Given the description of an element on the screen output the (x, y) to click on. 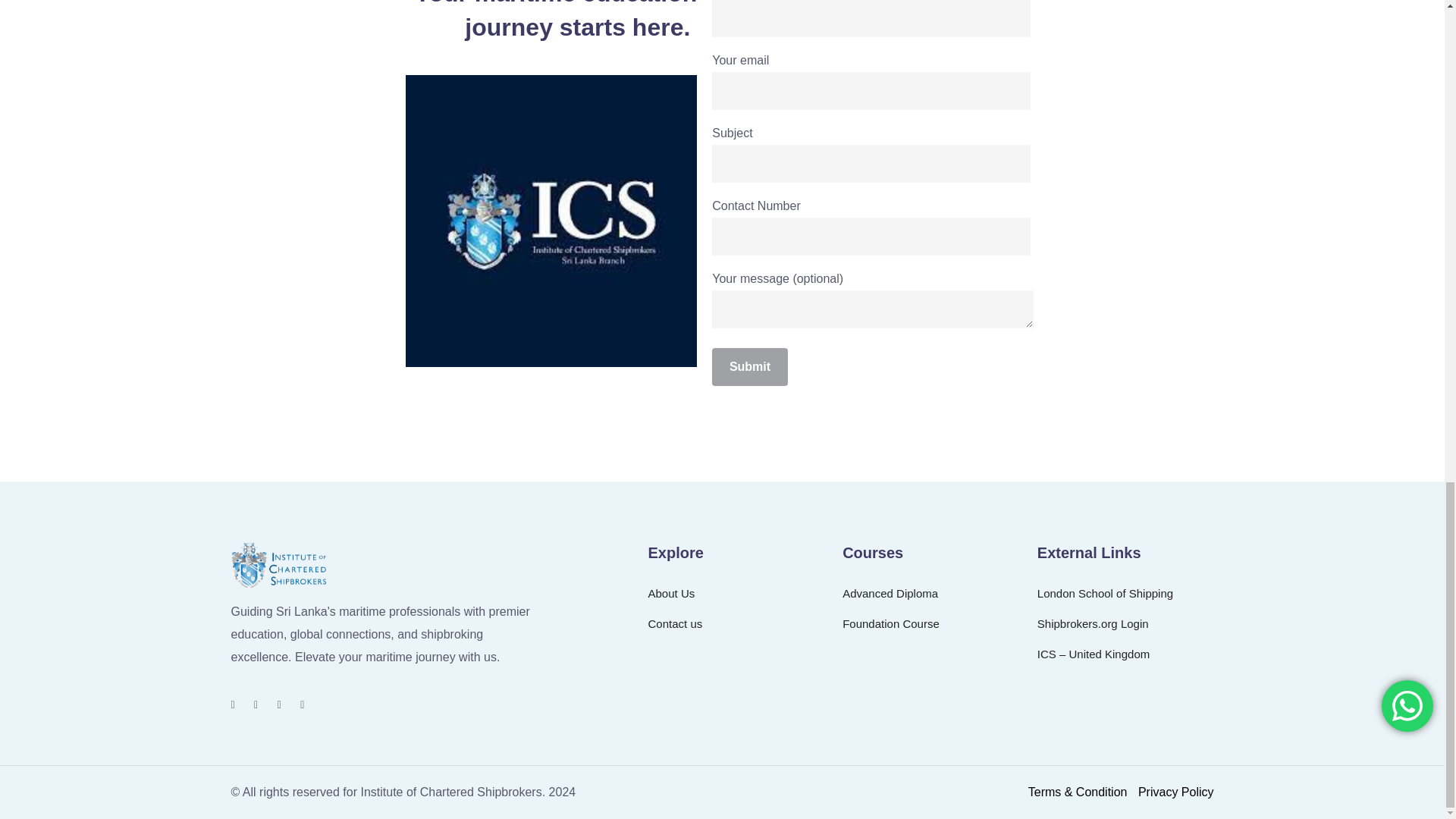
About Us (671, 593)
Submit (749, 366)
London School of Shipping (1104, 593)
Submit (749, 366)
Advanced Diploma (890, 593)
Foundation Course (891, 623)
Contact us (675, 623)
